Given the description of an element on the screen output the (x, y) to click on. 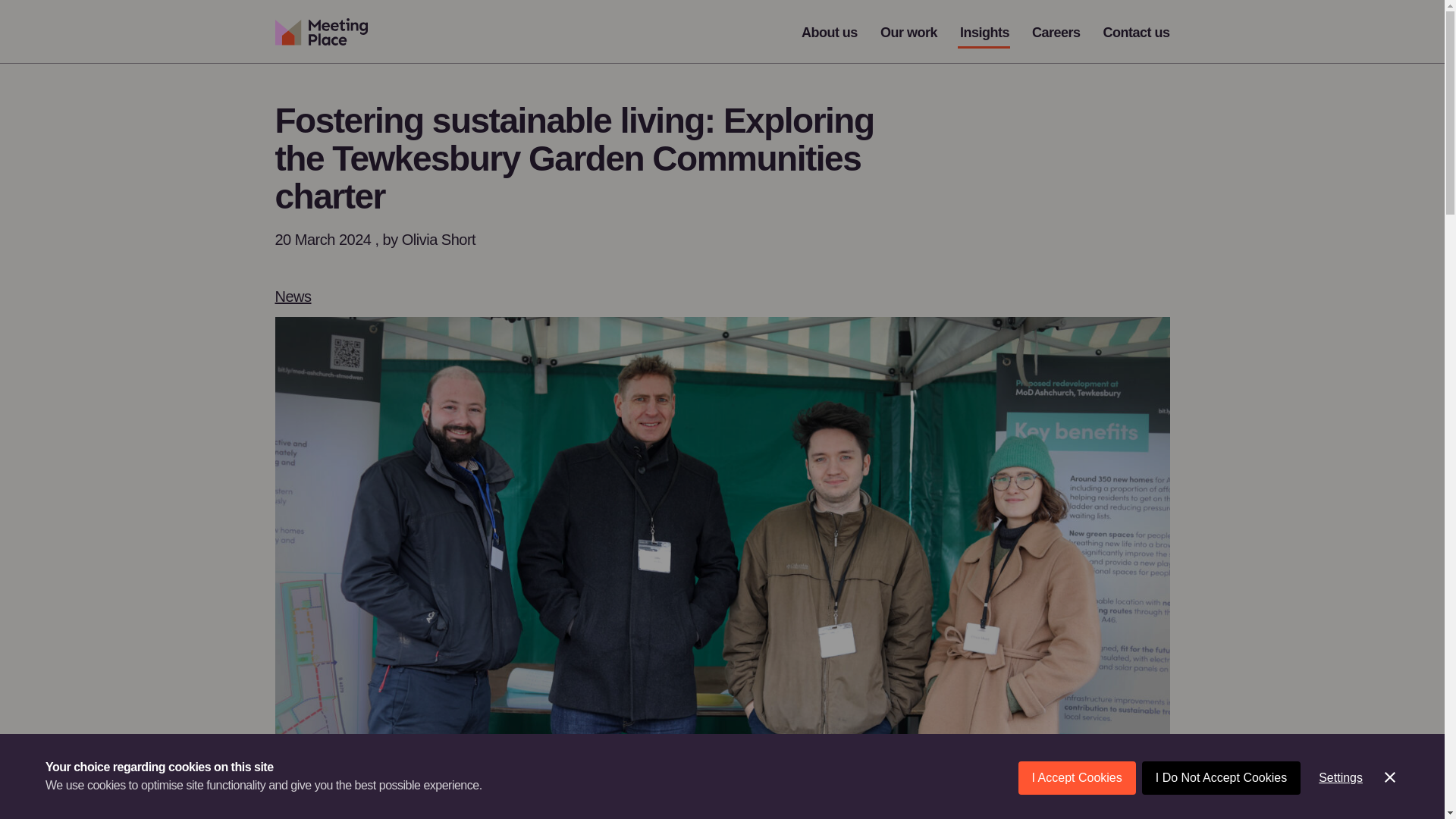
Careers (1056, 32)
About us (829, 32)
Our work (908, 32)
Insights (984, 32)
Contact us (1135, 32)
News (293, 296)
